Given the description of an element on the screen output the (x, y) to click on. 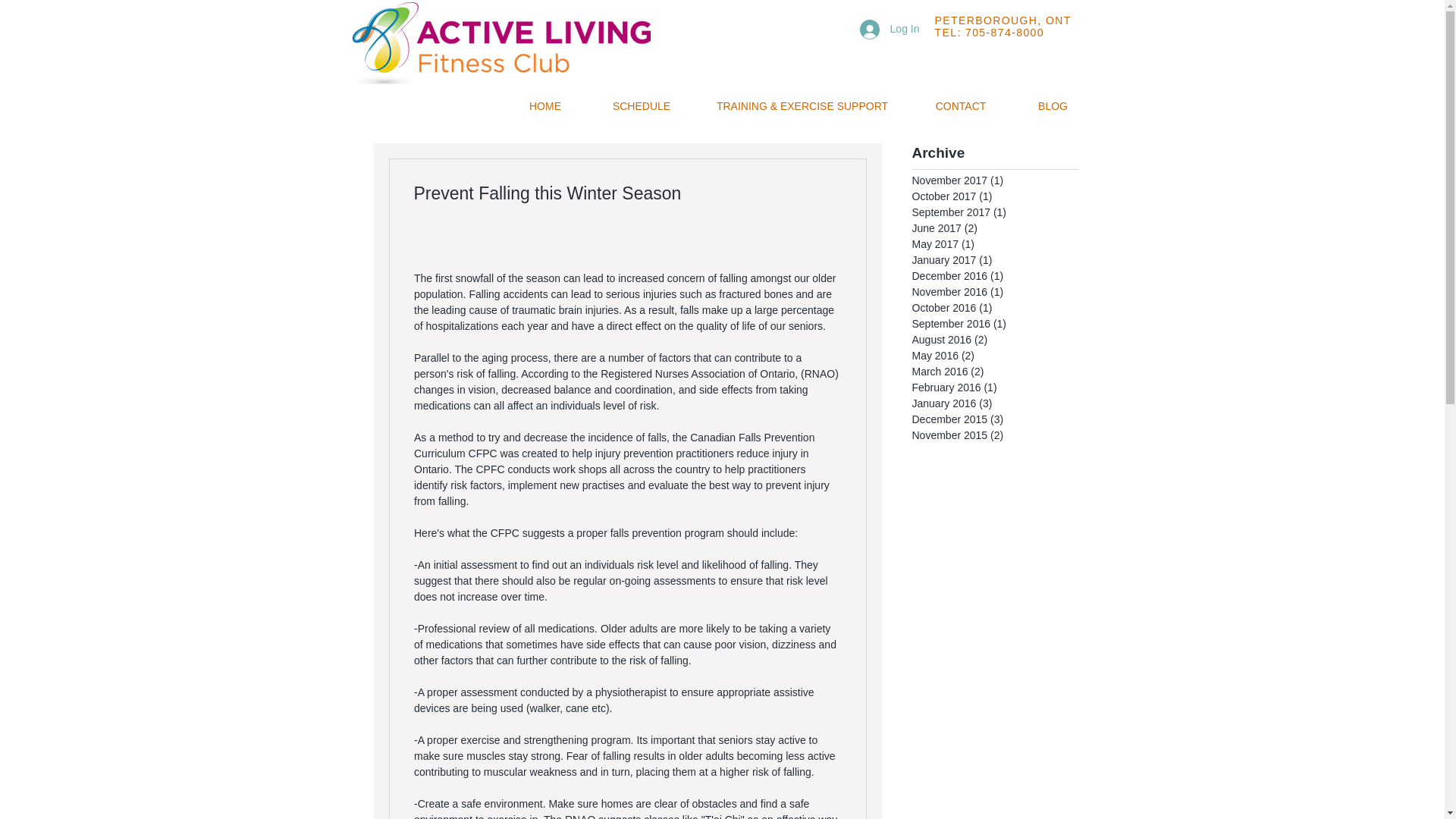
SCHEDULE (641, 106)
Embedded Content (1016, 40)
Log In (889, 29)
BLOG (1052, 106)
HOME (545, 106)
CONTACT (960, 106)
